Given the description of an element on the screen output the (x, y) to click on. 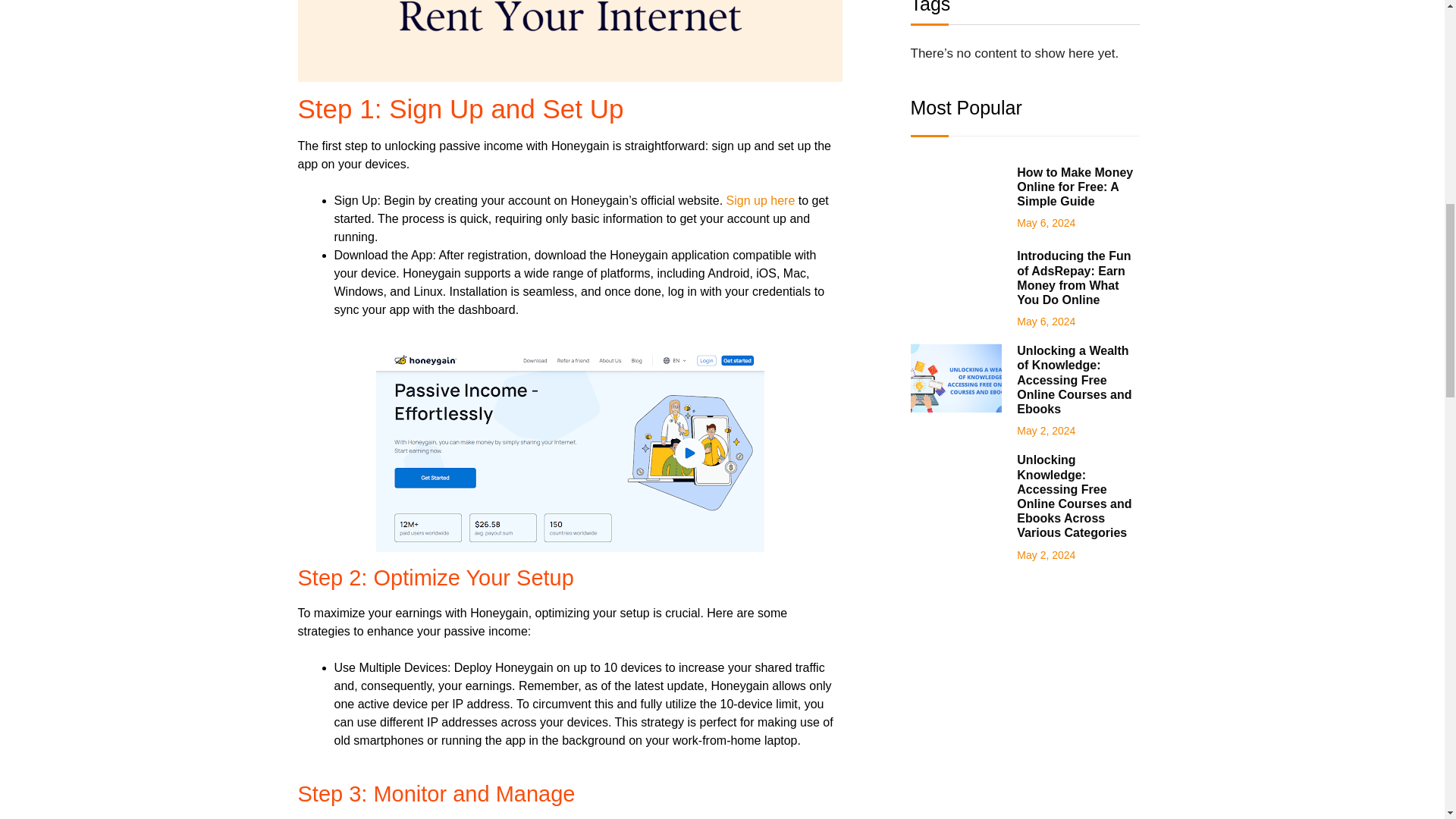
How to Make Money Online for Free: A Simple Guide (1074, 187)
Sign up here (758, 200)
